Given the description of an element on the screen output the (x, y) to click on. 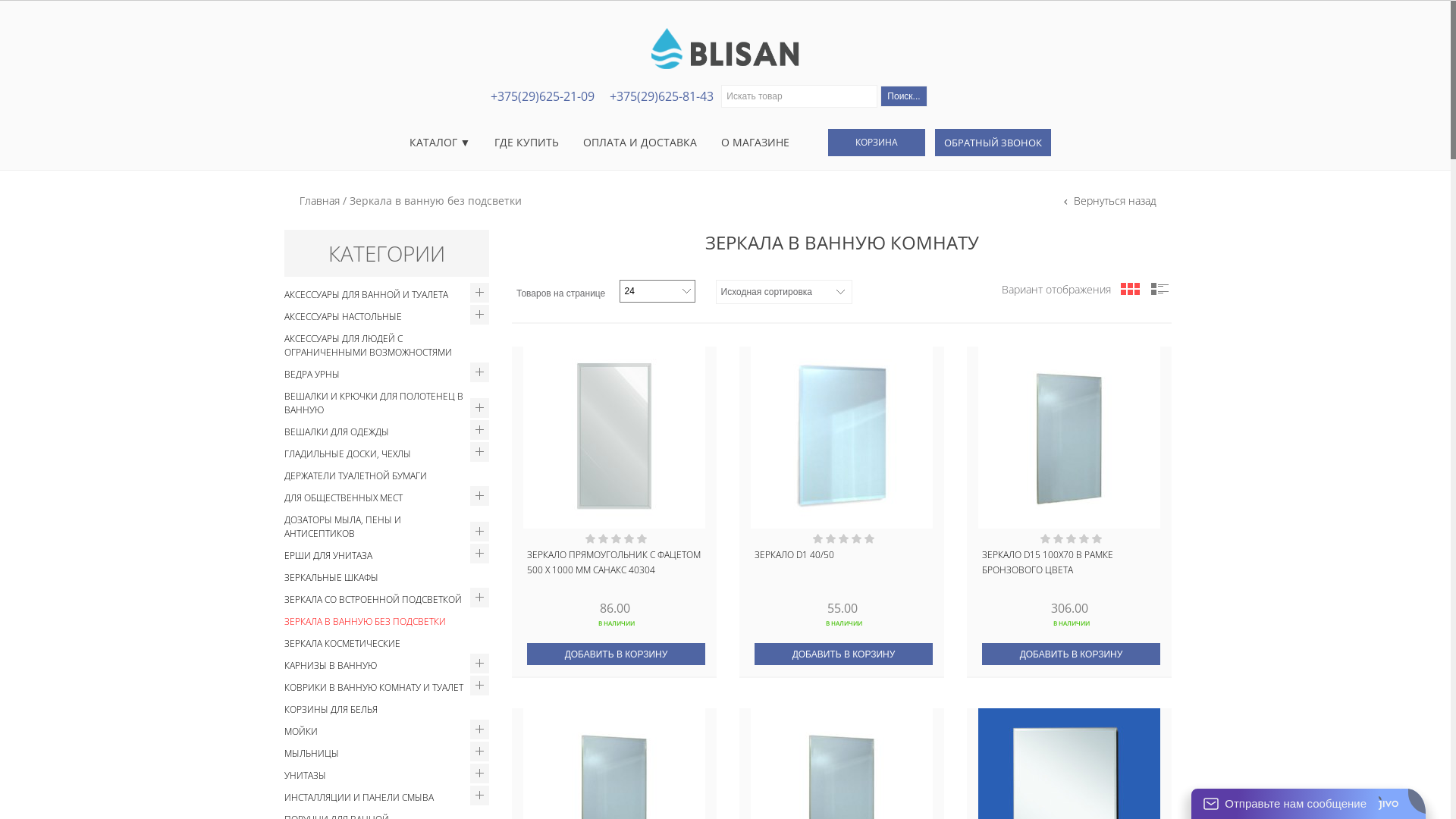
+375(29)625-21-09 Element type: text (542, 95)
+375(29)625-81-43 Element type: text (661, 95)
